Given the description of an element on the screen output the (x, y) to click on. 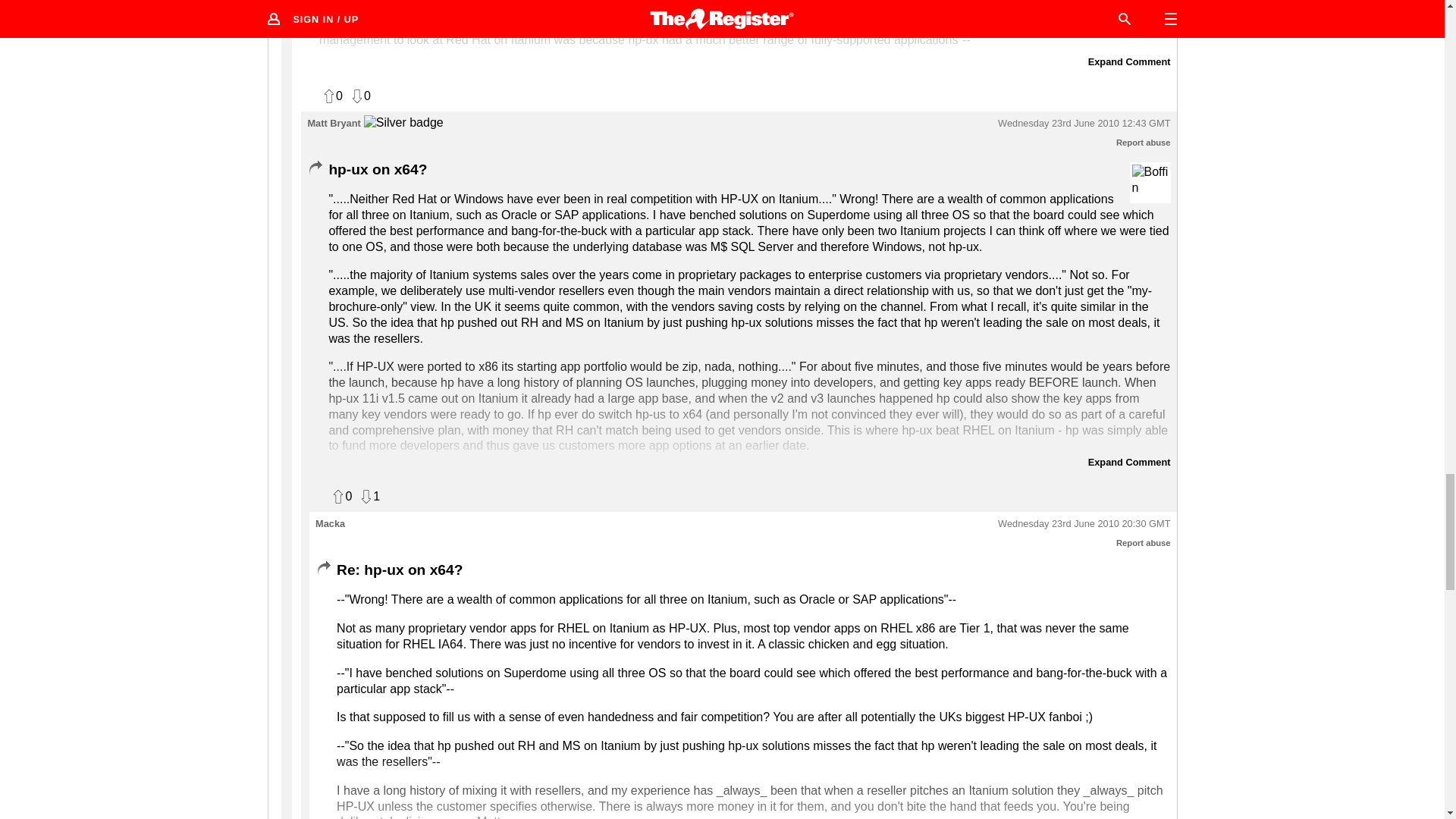
Report abuse (1143, 142)
Report abuse (1143, 542)
